Given the description of an element on the screen output the (x, y) to click on. 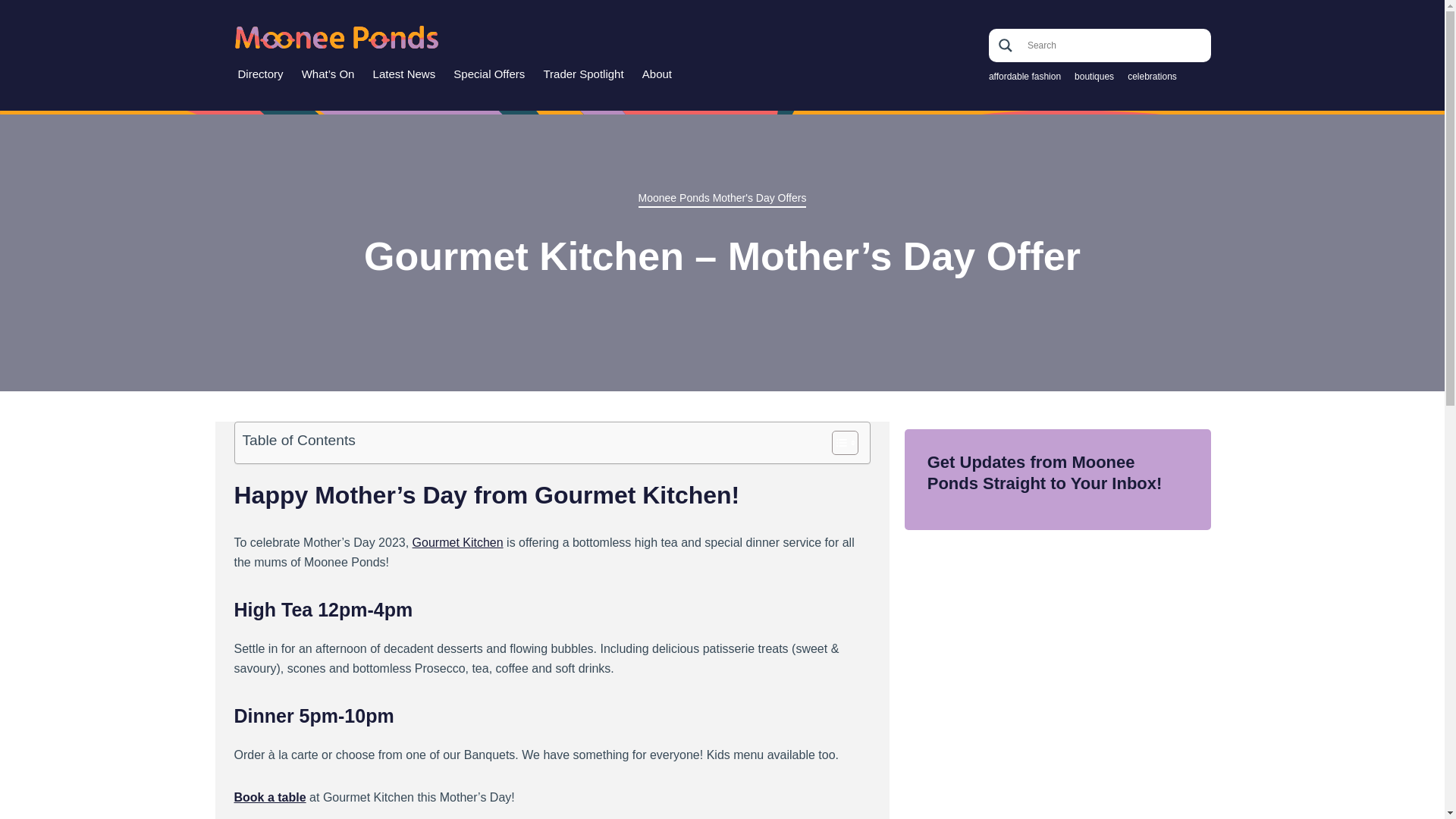
Directory (260, 74)
Gourmet Kitchen (457, 542)
affordable fashion (1024, 77)
About (656, 74)
celebrations (1151, 77)
Special Offers (488, 74)
Trader Spotlight (582, 74)
boutiques (1093, 77)
Latest News (404, 74)
